Given the description of an element on the screen output the (x, y) to click on. 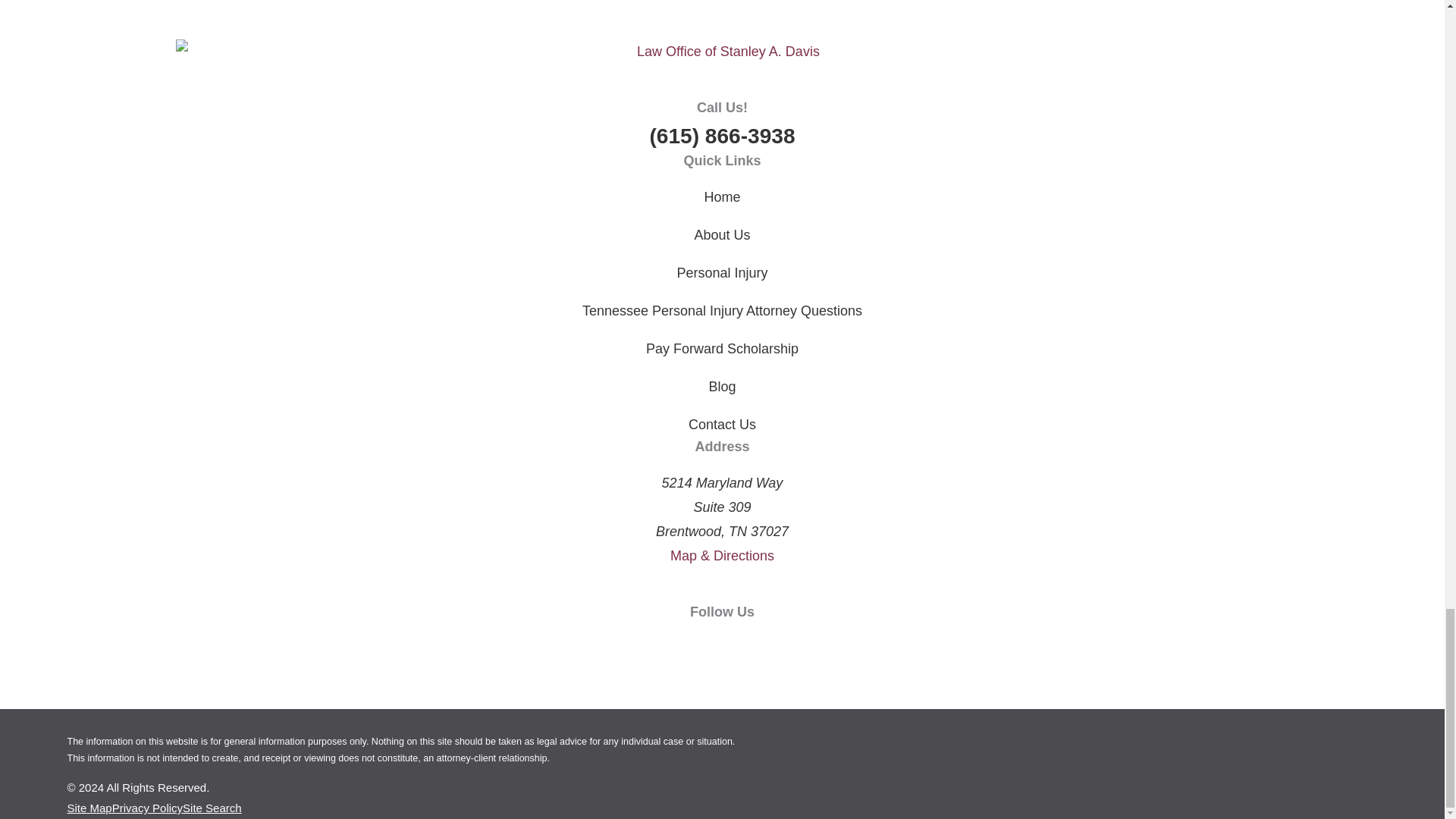
Facebook (642, 645)
Yelp (761, 645)
YouTube (722, 645)
Twitter (682, 645)
Google Business Profile (801, 645)
Home (722, 51)
